Given the description of an element on the screen output the (x, y) to click on. 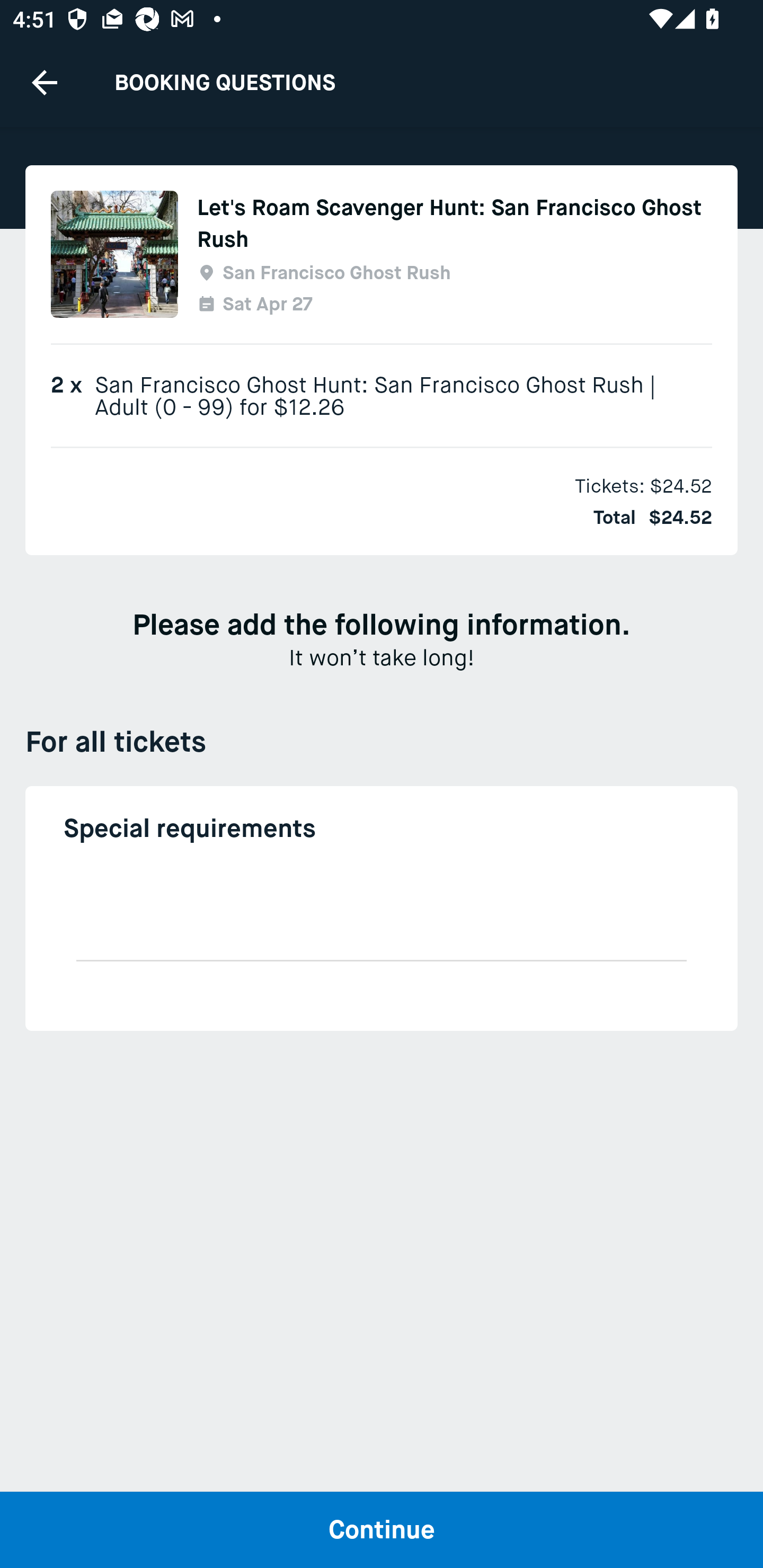
Navigate up (44, 82)
Continue (381, 1529)
